Given the description of an element on the screen output the (x, y) to click on. 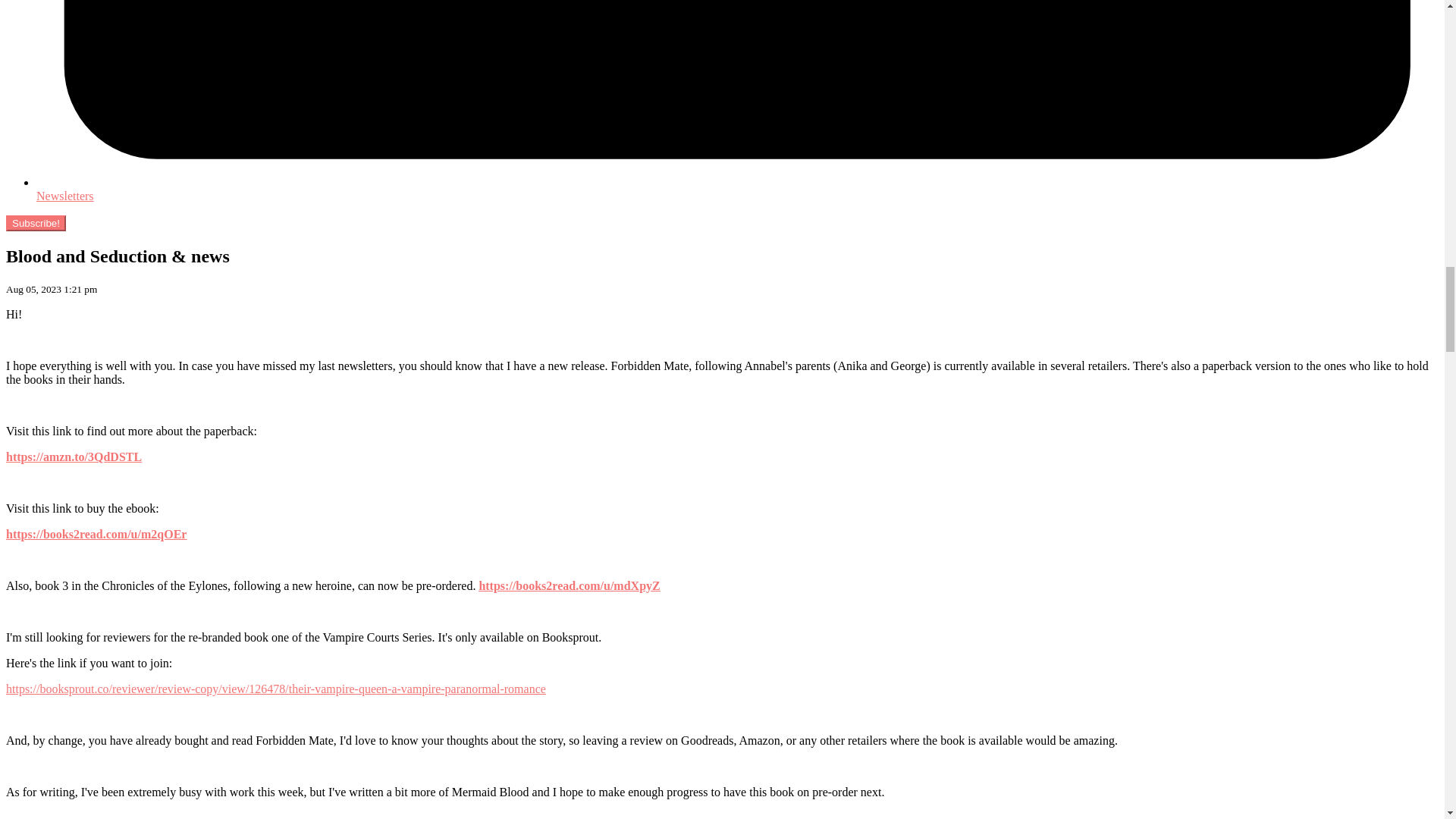
Subscribe! (35, 222)
